Given the description of an element on the screen output the (x, y) to click on. 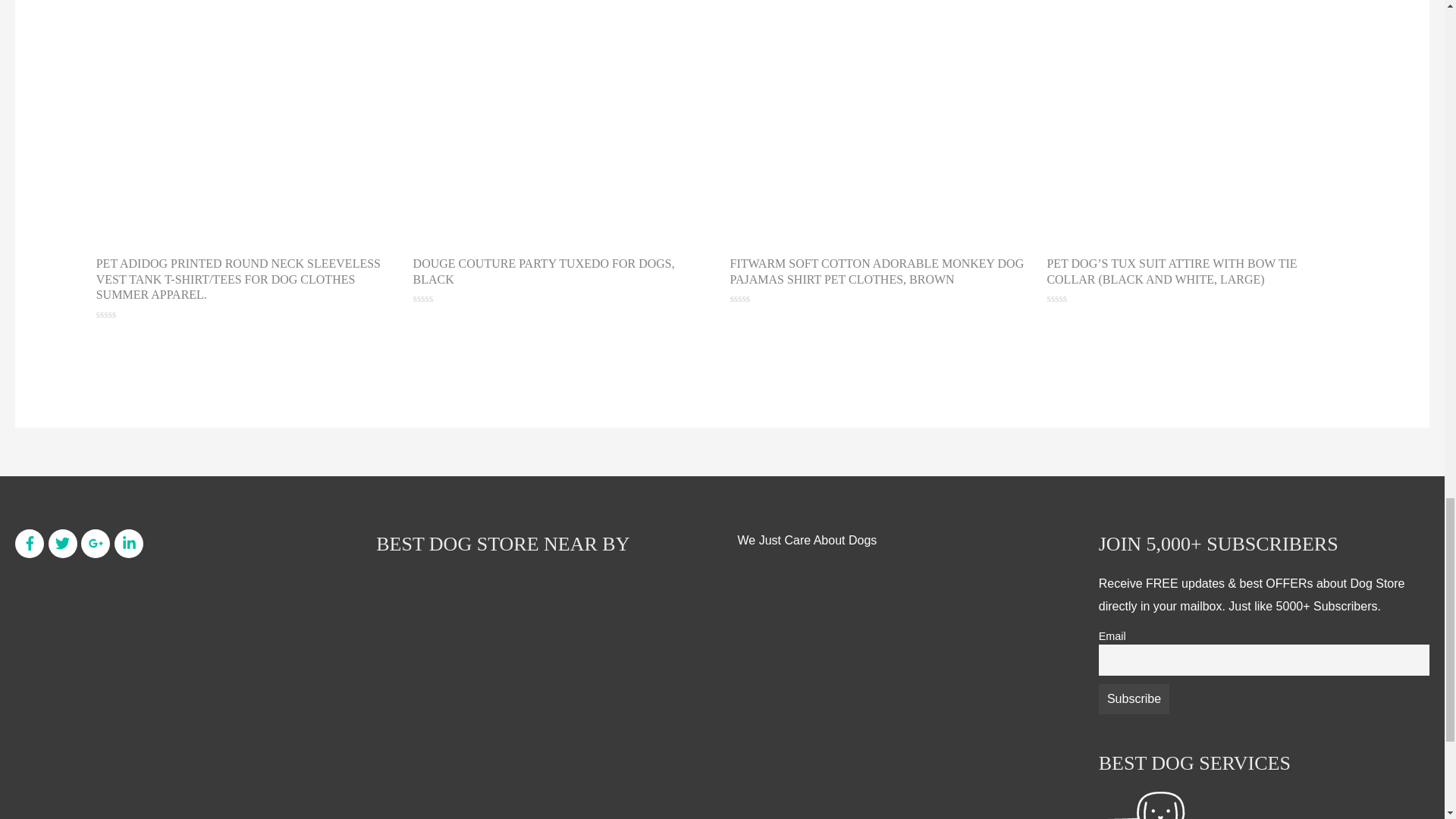
Subscribe (1134, 698)
